Given the description of an element on the screen output the (x, y) to click on. 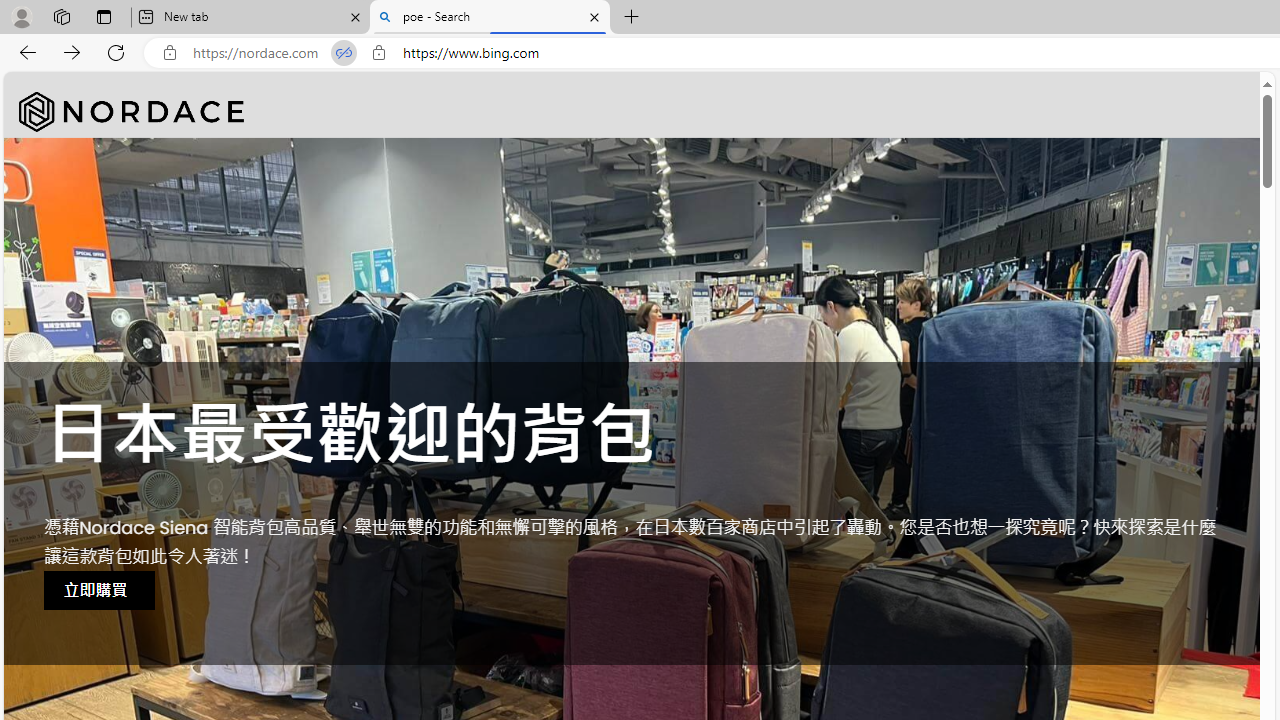
Forward (72, 52)
poe - Search (490, 17)
Tabs in split screen (344, 53)
